Given the description of an element on the screen output the (x, y) to click on. 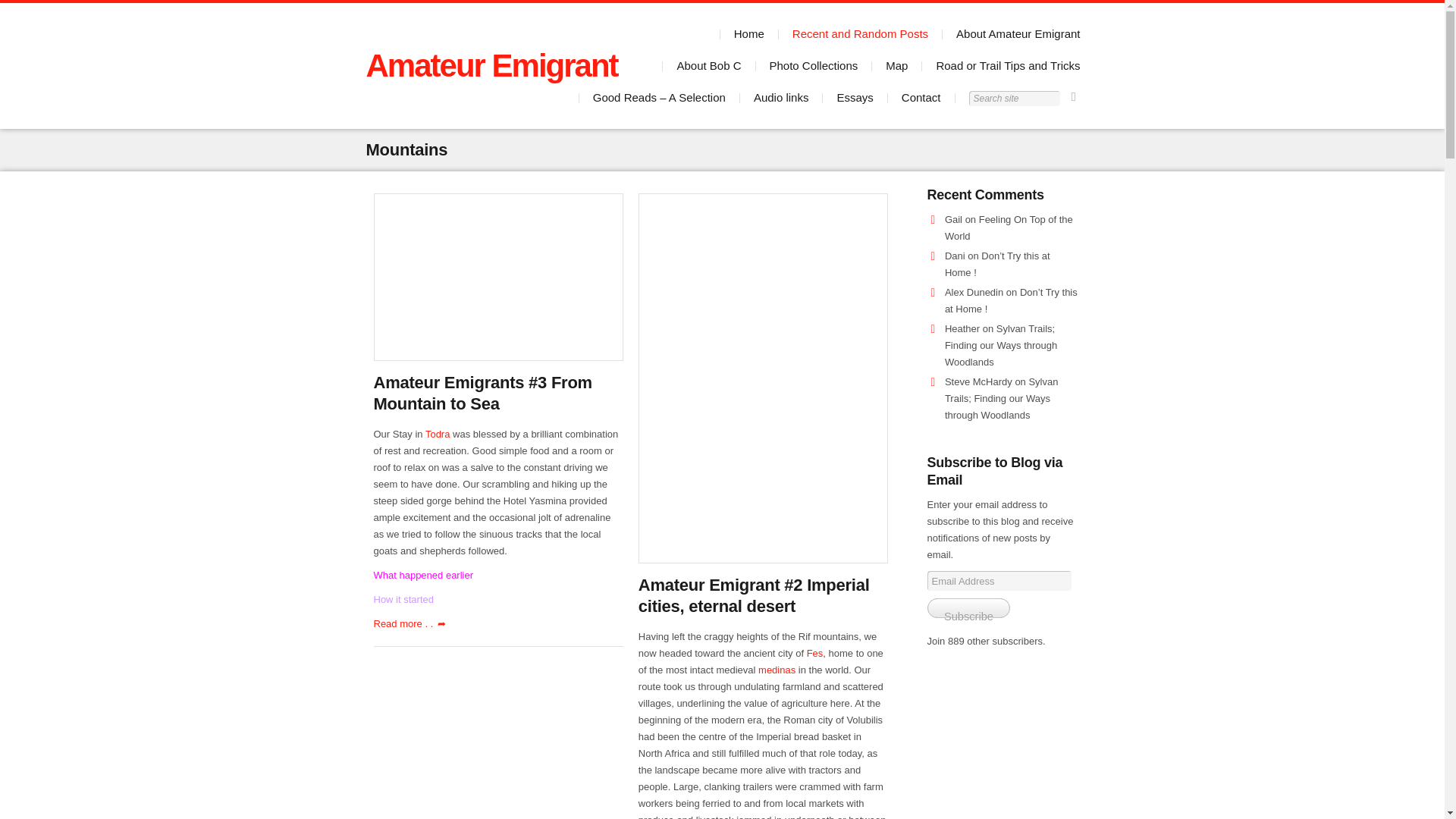
Photo Collections (812, 65)
About Bob C (709, 65)
Essays (853, 97)
Todra (437, 433)
Amateur Emigrant (491, 65)
Audio links (781, 97)
Contact (920, 97)
Recent and Random Posts (860, 33)
Road or Trail Tips and Tricks (1008, 65)
medinas (776, 669)
Map (896, 65)
How it started (402, 599)
What happened earlier (422, 574)
Fes (815, 653)
About Amateur Emigrant (1018, 33)
